Given the description of an element on the screen output the (x, y) to click on. 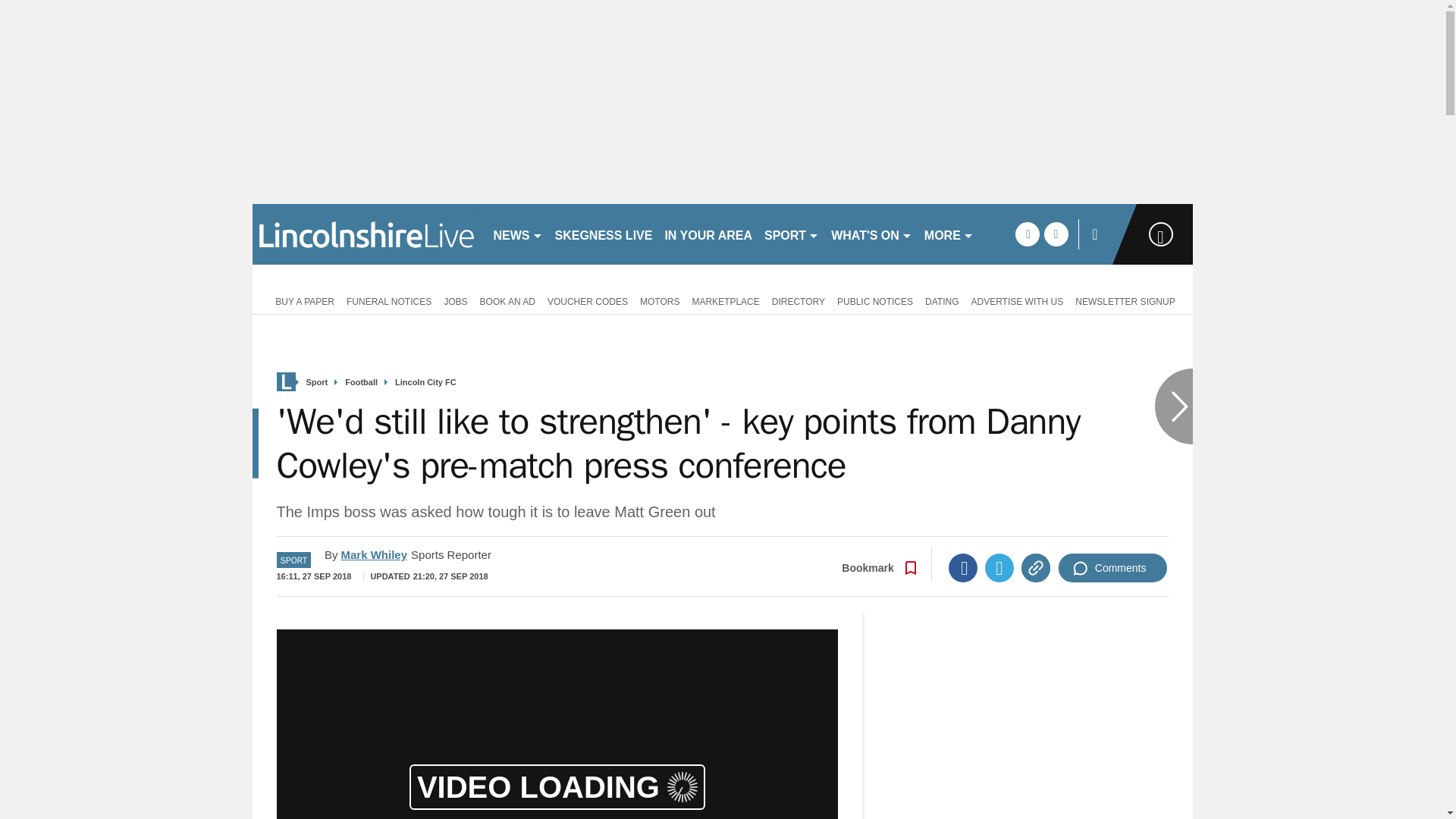
MORE (948, 233)
facebook (1026, 233)
SKEGNESS LIVE (603, 233)
Twitter (999, 567)
NEWS (517, 233)
twitter (1055, 233)
IN YOUR AREA (708, 233)
lincolnshirelive (365, 233)
BUY A PAPER (301, 300)
Comments (1112, 567)
